Given the description of an element on the screen output the (x, y) to click on. 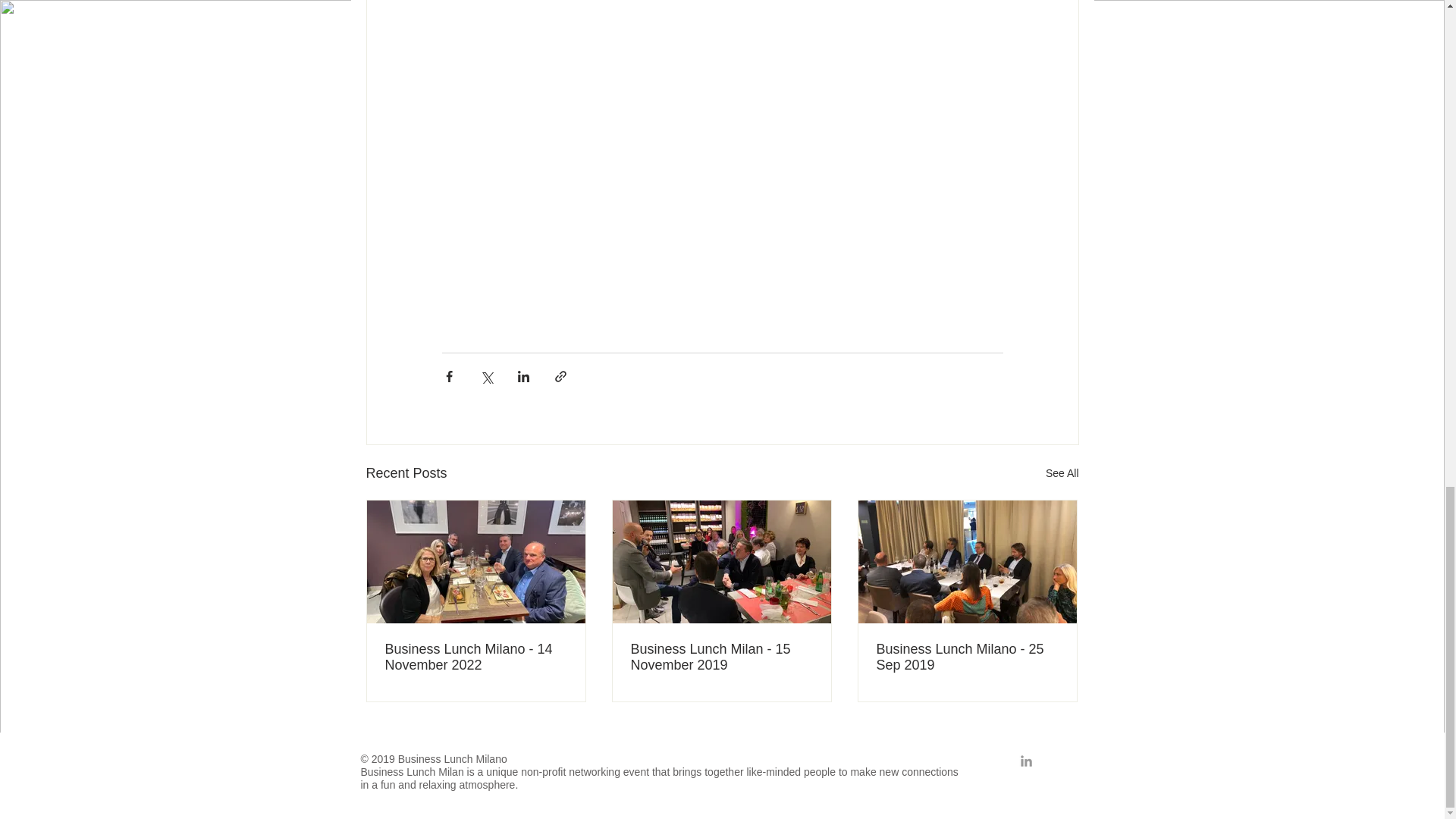
Business Lunch Milan - 15 November 2019 (721, 657)
Business Lunch Milano - 14 November 2022 (476, 657)
See All (1061, 473)
Business Lunch Milano - 25 Sep 2019 (967, 657)
